Given the description of an element on the screen output the (x, y) to click on. 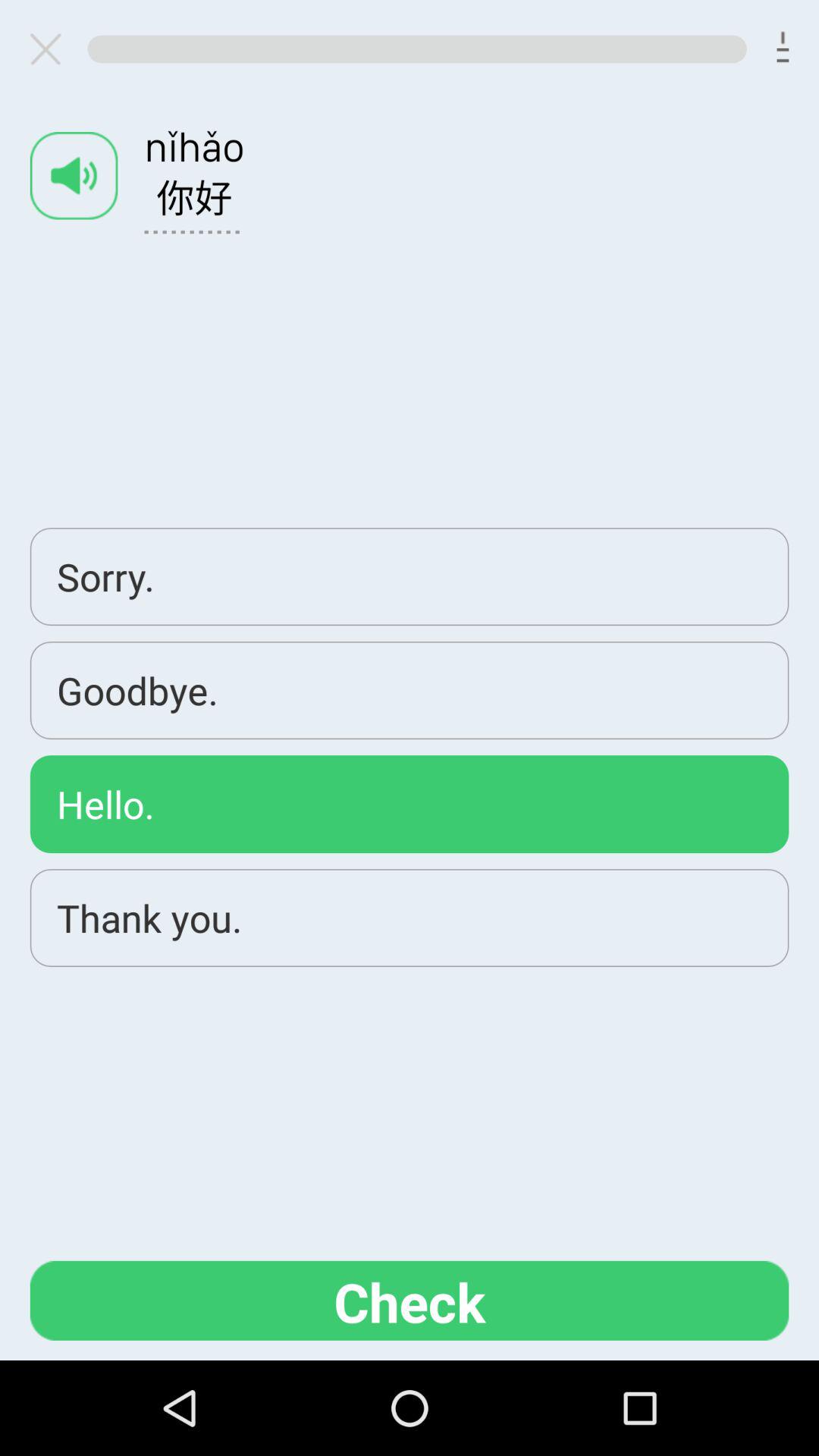
pronounce text (73, 175)
